Given the description of an element on the screen output the (x, y) to click on. 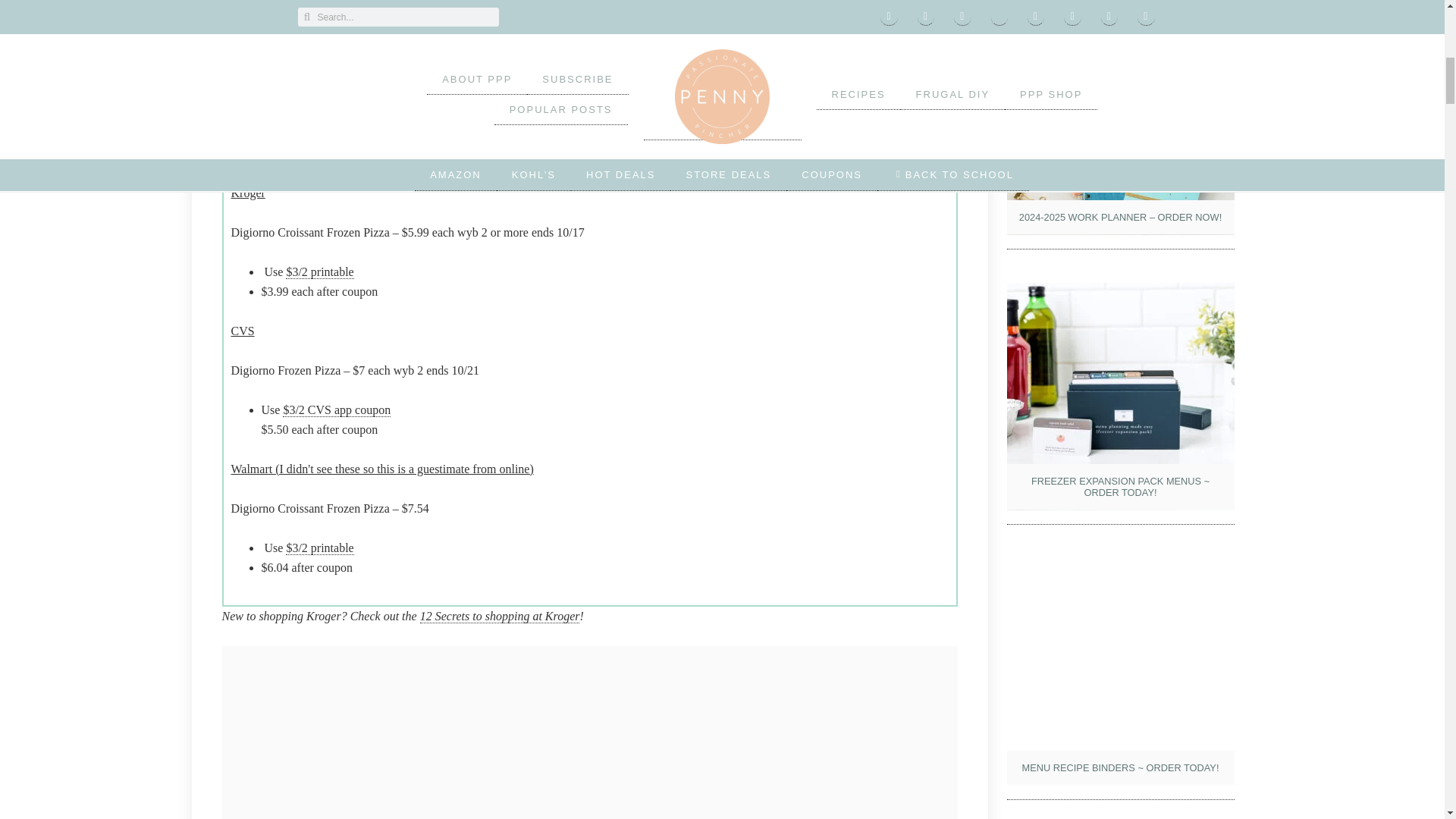
Work Planner - Order Now! (1120, 121)
